Given the description of an element on the screen output the (x, y) to click on. 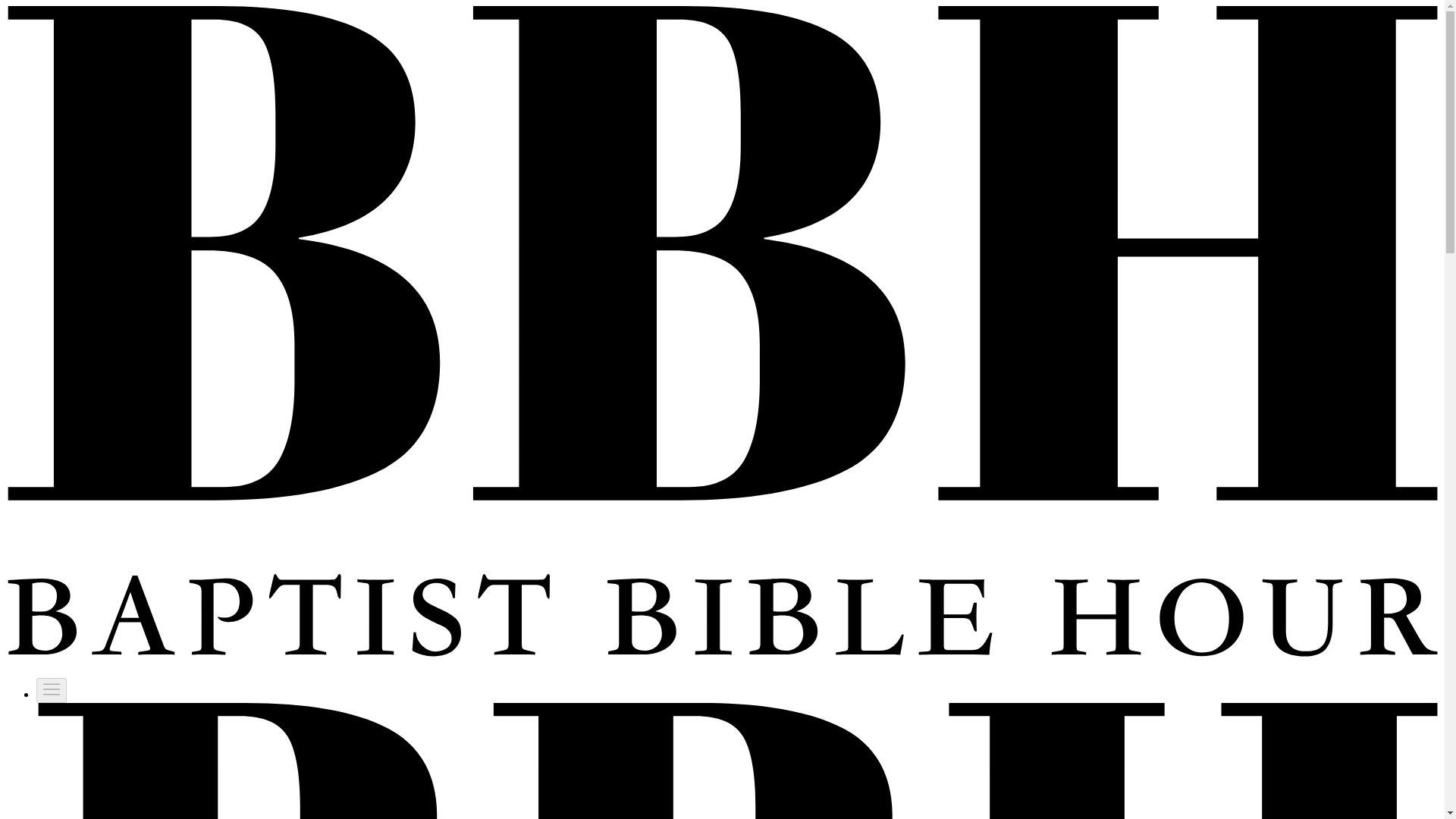
menu-8 (51, 689)
menu-8 (51, 690)
